Given the description of an element on the screen output the (x, y) to click on. 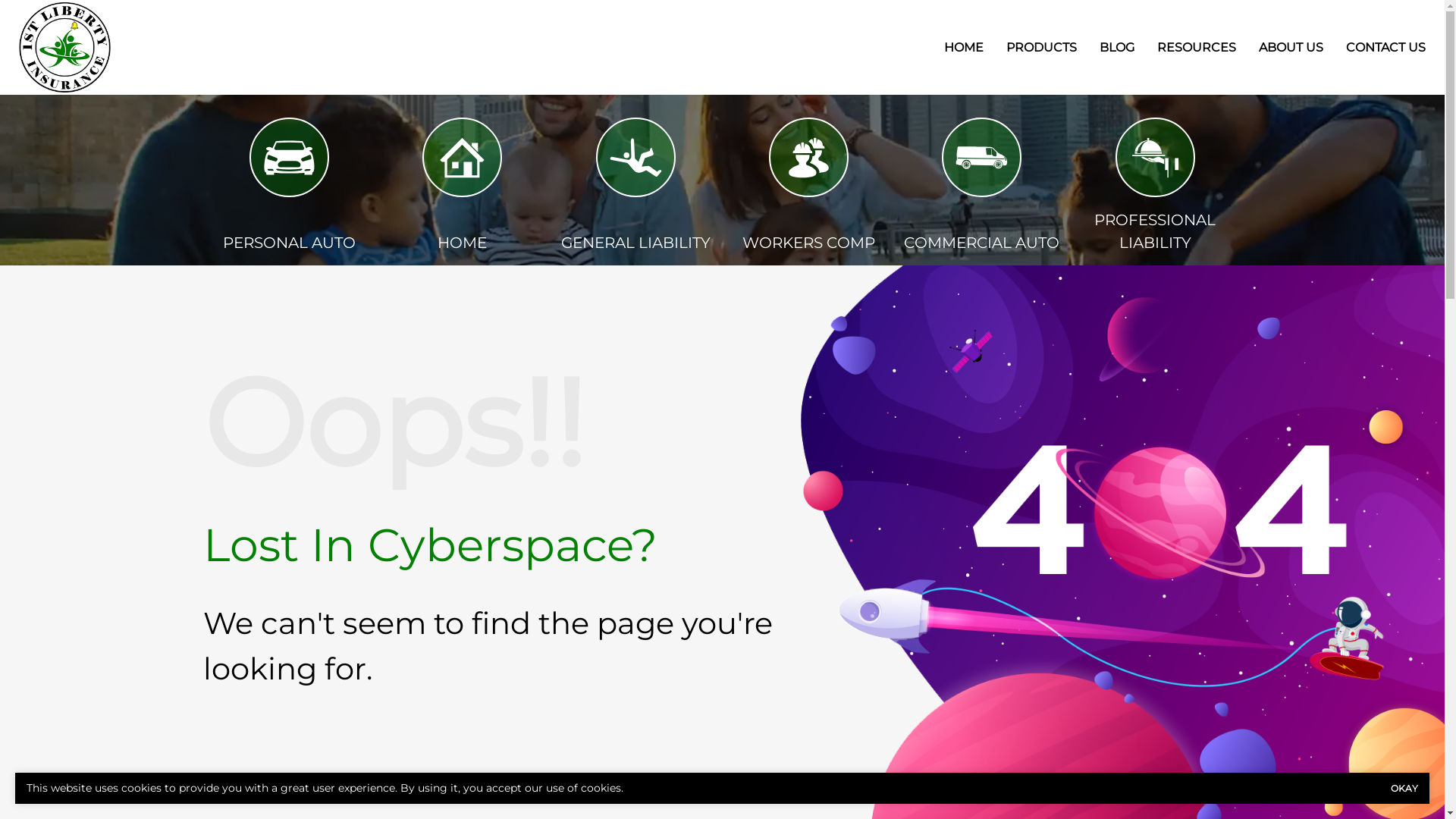
HOME Element type: text (461, 242)
COMMERCIAL AUTO Element type: text (981, 242)
PRODUCTS Element type: text (1041, 46)
COMMERCIAL AUTO Element type: text (981, 157)
HOME Element type: text (963, 46)
PERSONAL AUTO Element type: text (289, 157)
ABOUT US Element type: text (1290, 46)
BLOG Element type: text (1116, 46)
GENERAL LIABILITY Element type: text (635, 157)
WORKERS COMP Element type: text (808, 242)
PROFESSIONAL LIABILITY Element type: text (1155, 157)
PROFESSIONAL LIABILITY Element type: text (1154, 231)
RESOURCES Element type: text (1196, 46)
CONTACT US Element type: text (1385, 46)
WORKERS COMP Element type: text (808, 157)
HOME Element type: text (462, 157)
GENERAL LIABILITY Element type: text (635, 242)
PERSONAL AUTO Element type: text (288, 242)
OKAY Element type: text (1404, 788)
